Given the description of an element on the screen output the (x, y) to click on. 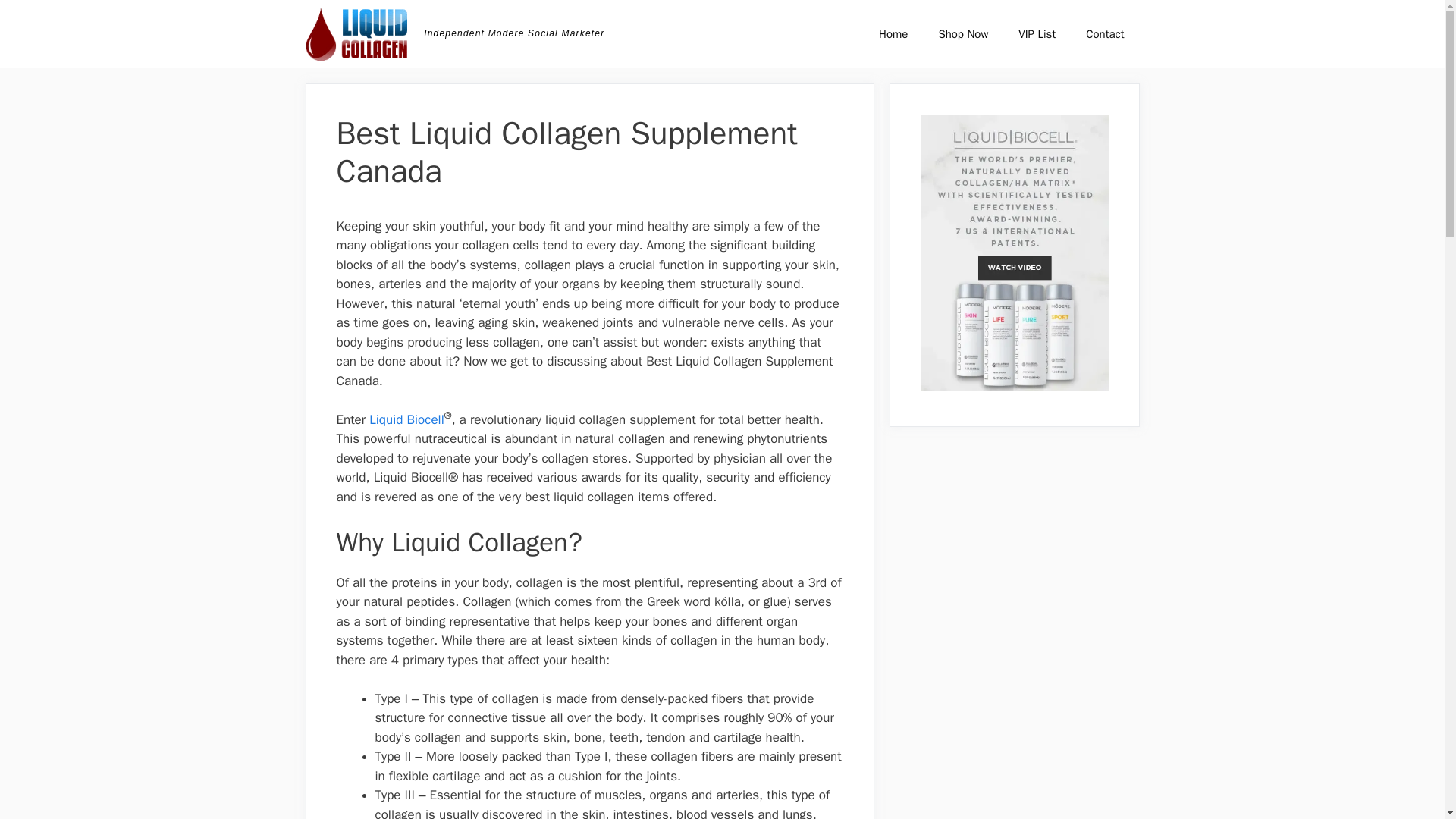
BestLiquidCollagen.com (355, 33)
BestLiquidCollagen.com (359, 33)
Shop Now (963, 33)
Liquid Biocell (406, 419)
VIP List (1036, 33)
Contact (1104, 33)
Home (893, 33)
